Given the description of an element on the screen output the (x, y) to click on. 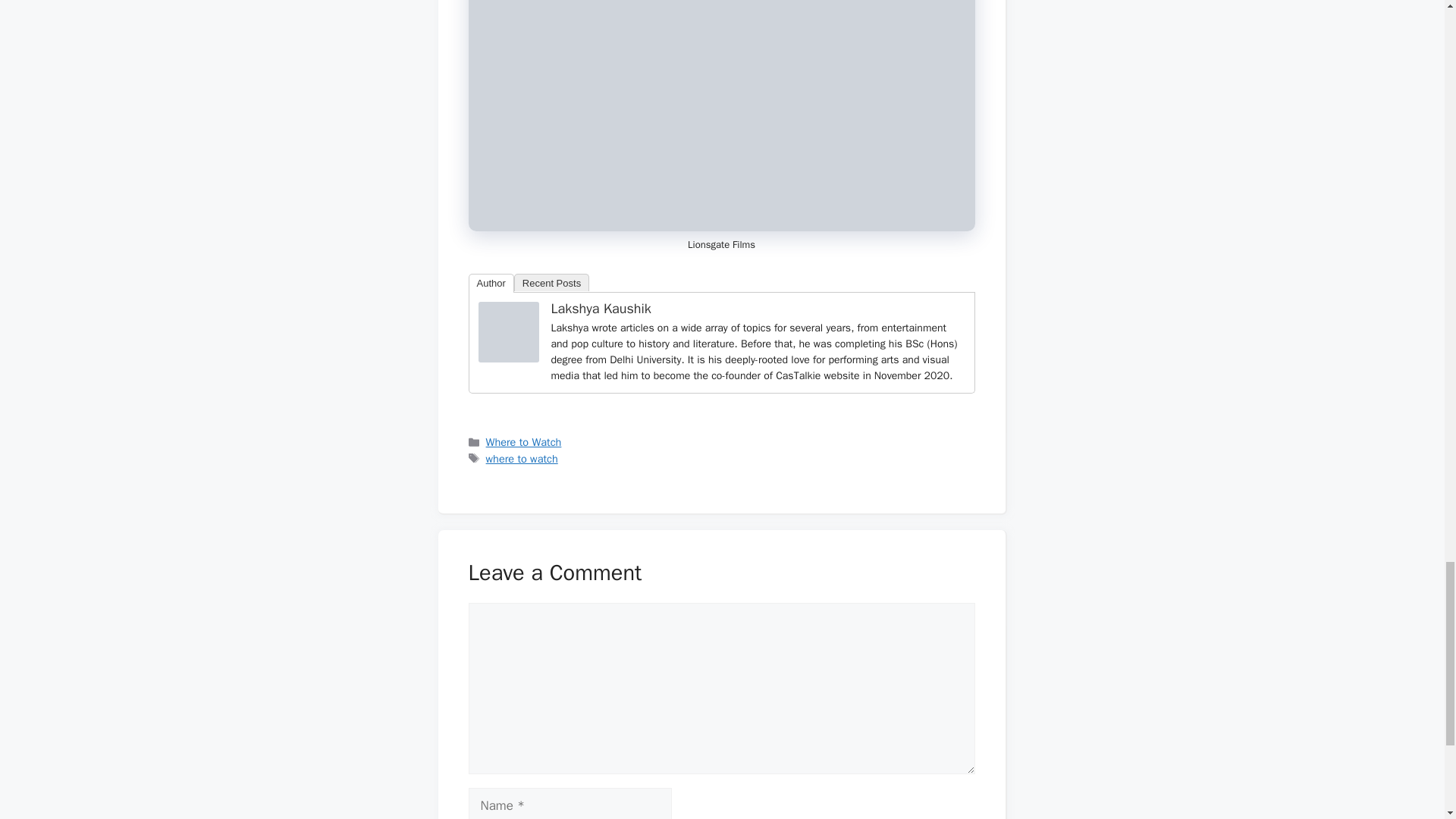
Is White Elephant on Netflix, Prime, or HBO MAX? (507, 332)
where to watch (521, 459)
Lakshya Kaushik (600, 308)
Recent Posts (551, 282)
Is White Elephant on Netflix, Prime, or HBO MAX? (721, 115)
Where to Watch (524, 441)
Lakshya Kaushik (507, 358)
Author (490, 282)
